Given the description of an element on the screen output the (x, y) to click on. 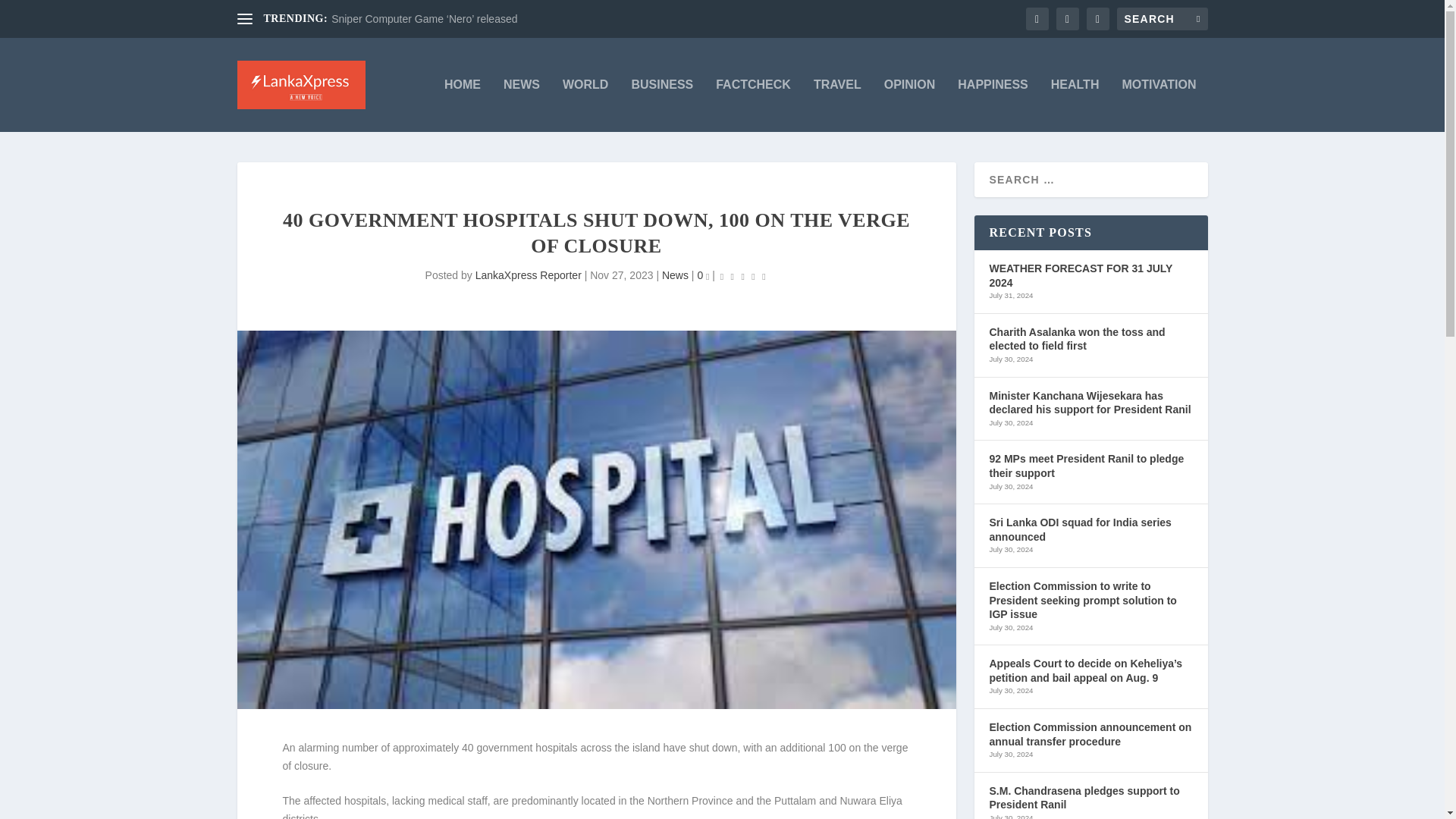
HAPPINESS (992, 104)
BUSINESS (661, 104)
Rating: 0.00 (742, 275)
Posts by LankaXpress Reporter (528, 275)
FACTCHECK (753, 104)
Search for: (1161, 18)
TRAVEL (837, 104)
0 (703, 275)
HEALTH (1075, 104)
News (675, 275)
LankaXpress Reporter (528, 275)
MOTIVATION (1158, 104)
OPINION (909, 104)
